Given the description of an element on the screen output the (x, y) to click on. 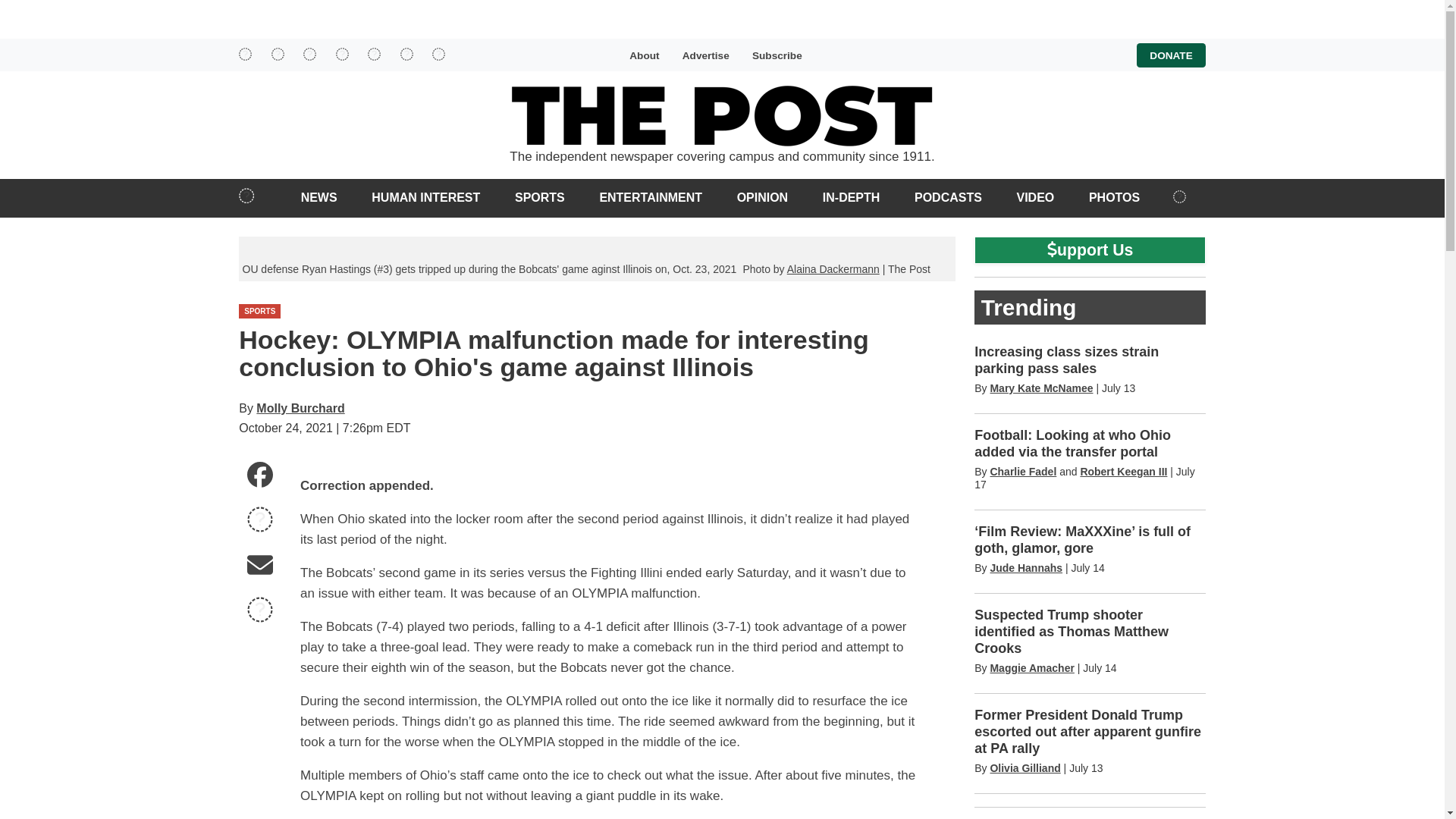
VIDEO (1035, 197)
Advertise (705, 55)
Sports (539, 197)
Podcasts (948, 197)
Opinion (762, 197)
PODCASTS (948, 197)
NEWS (318, 197)
OPINION (762, 197)
Video (1035, 197)
IN-DEPTH (850, 197)
ENTERTAINMENT (650, 197)
In-Depth (850, 197)
Human Interest (425, 197)
About (643, 55)
PHOTOS (1113, 197)
